Given the description of an element on the screen output the (x, y) to click on. 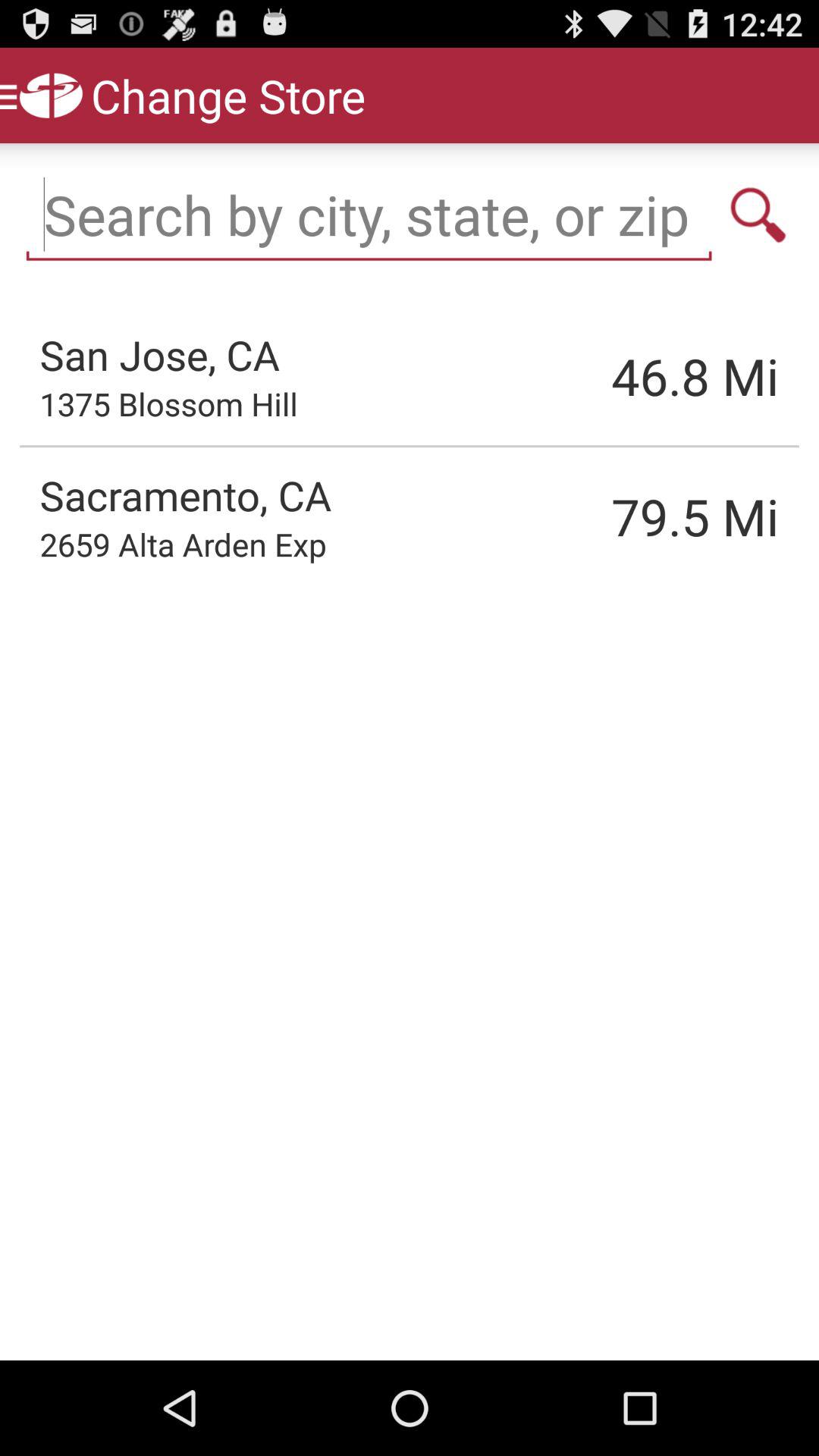
tap item above the 79.5 (617, 376)
